Given the description of an element on the screen output the (x, y) to click on. 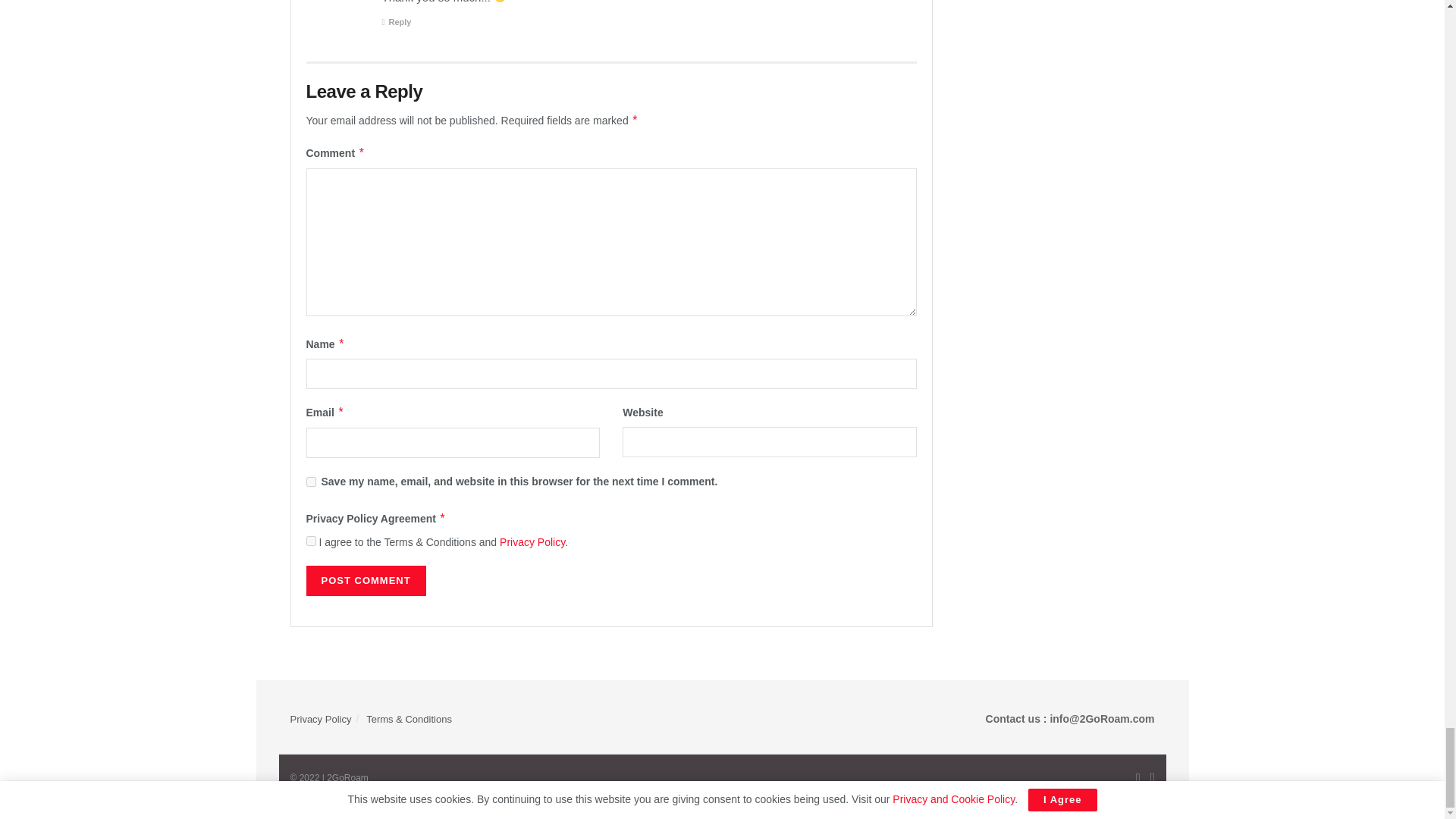
on (310, 541)
Post Comment (365, 580)
yes (310, 481)
